Given the description of an element on the screen output the (x, y) to click on. 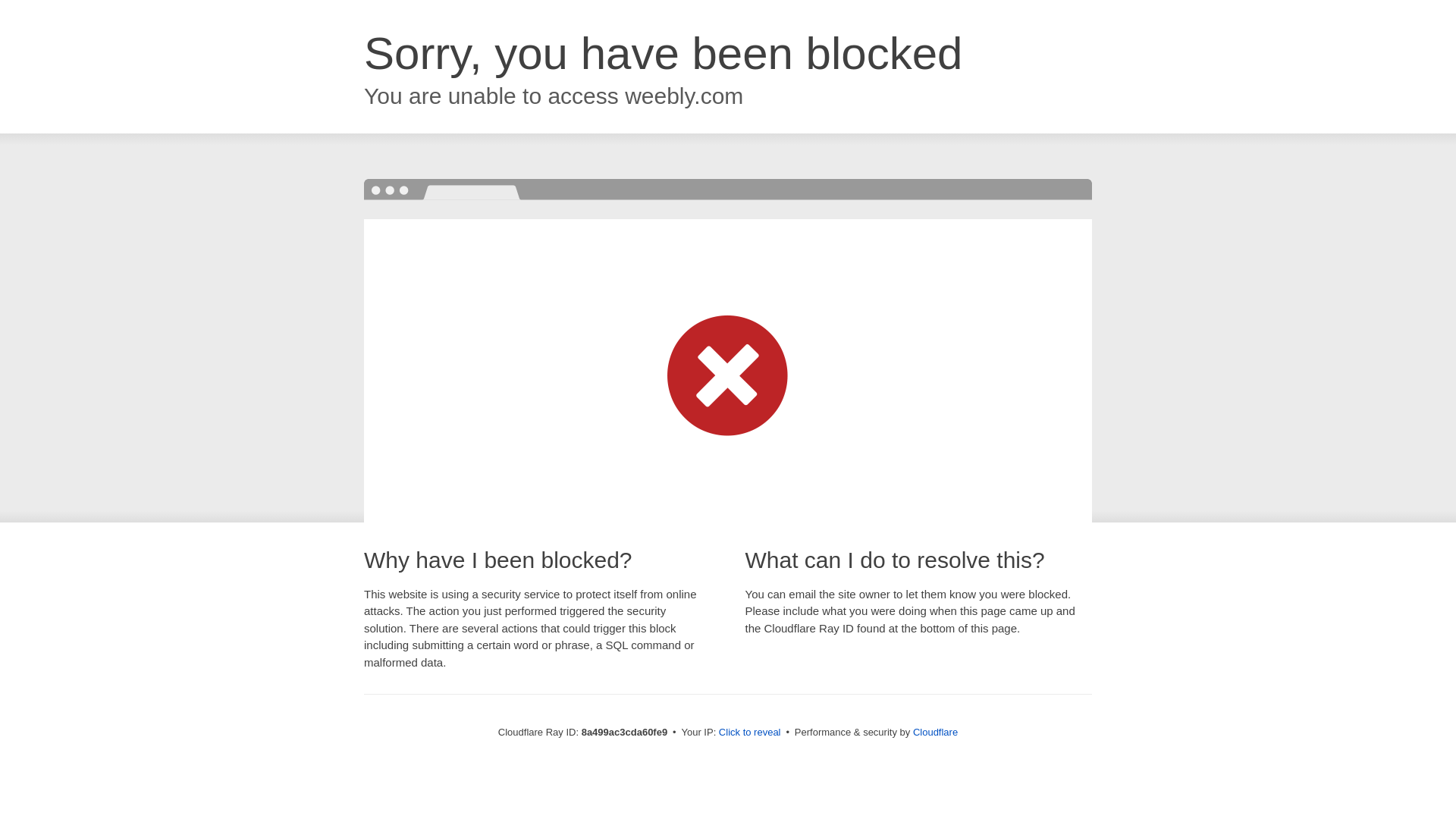
Cloudflare (935, 731)
Click to reveal (749, 732)
